Given the description of an element on the screen output the (x, y) to click on. 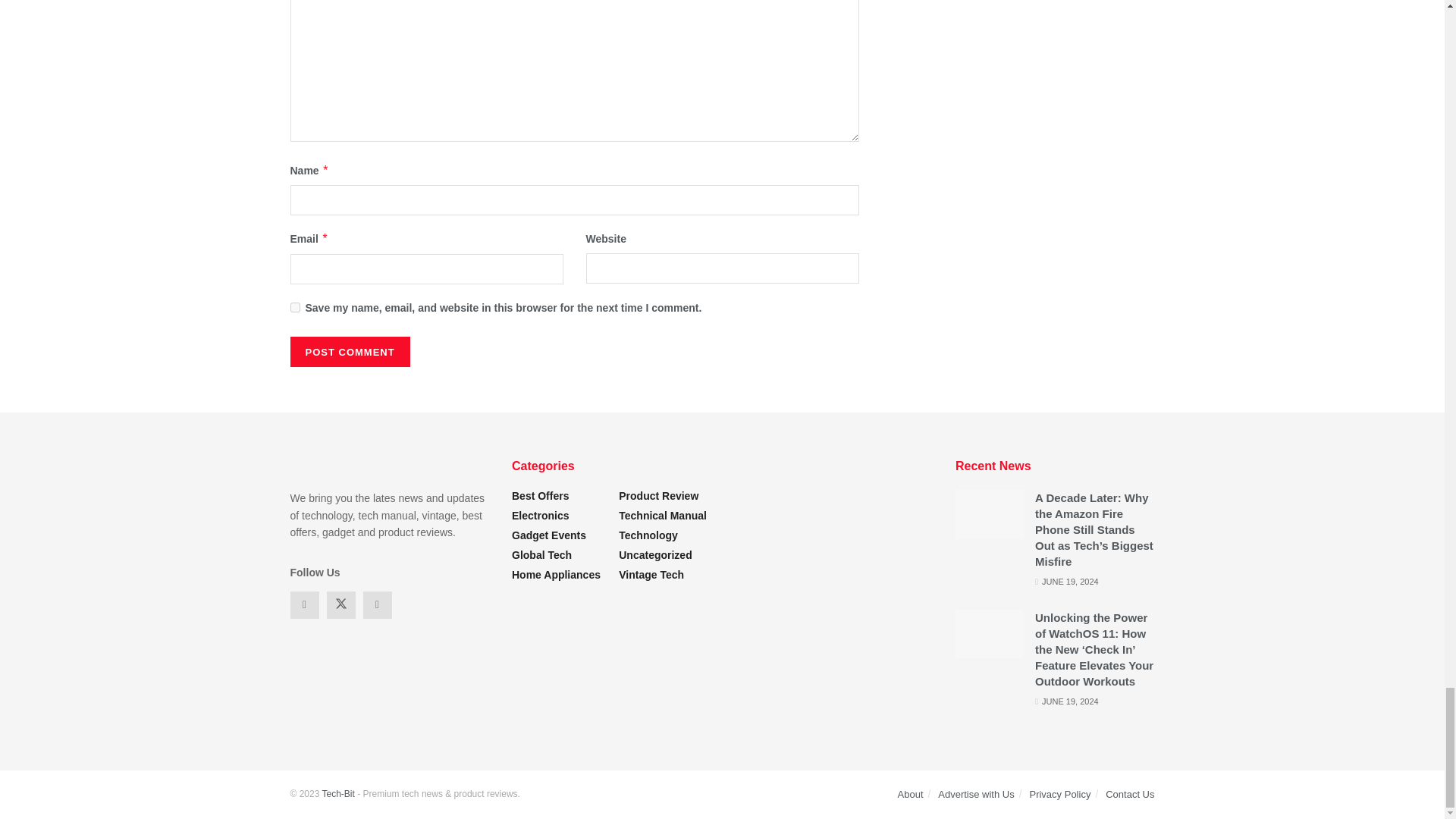
yes (294, 307)
Latest Tech News and Product Reviews (337, 793)
Post Comment (349, 351)
